Given the description of an element on the screen output the (x, y) to click on. 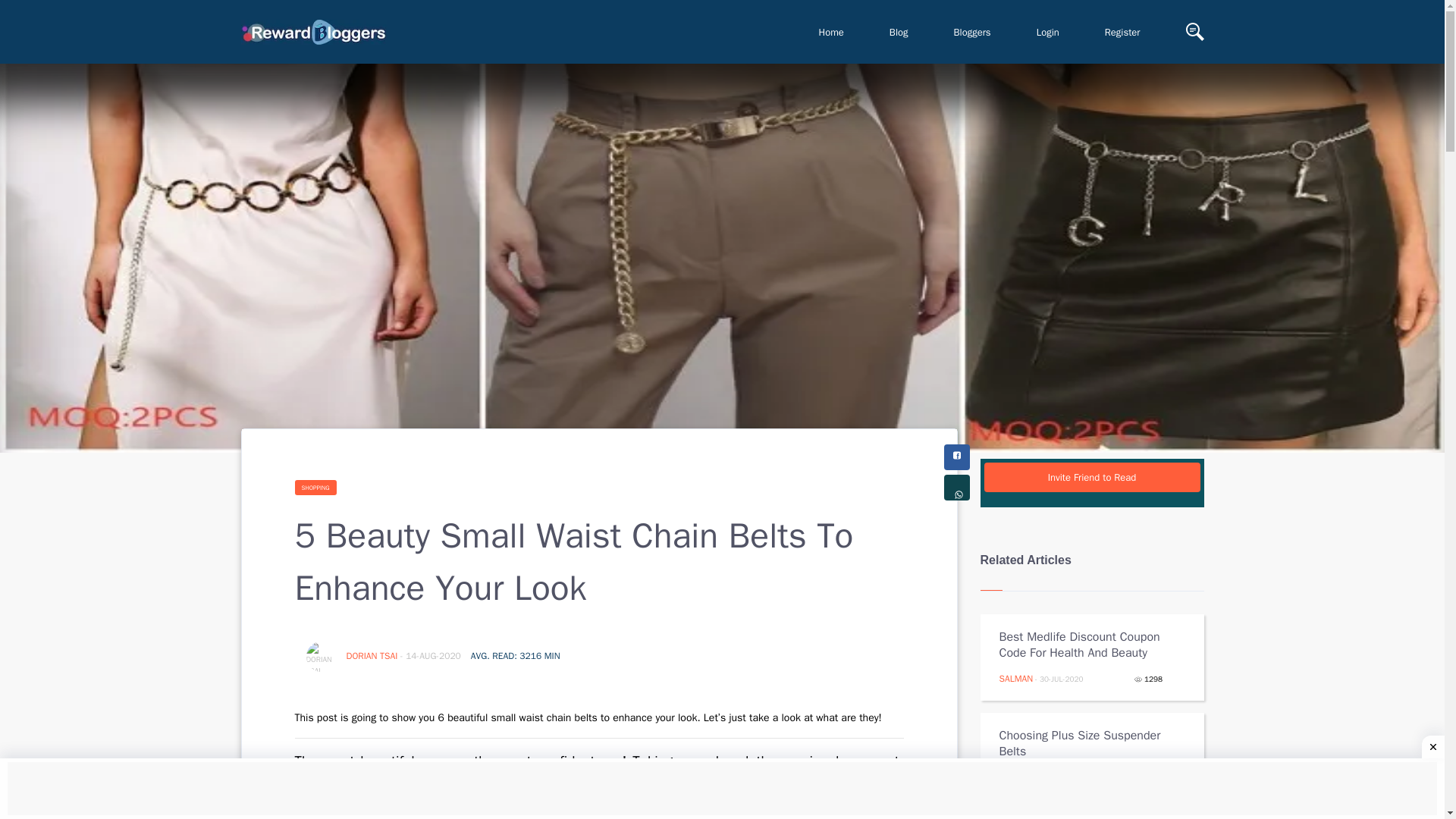
Invite Friend to Read (1091, 477)
Best Medlife Discount Coupon Code For Health And Beauty (1080, 644)
SHOPPING (315, 487)
I WANT (1014, 776)
DORIAN TSAI (372, 655)
Choosing Plus Size Suspender Belts (1080, 744)
Login (1047, 31)
Bloggers (972, 31)
Register (1122, 31)
Blog (898, 31)
